Given the description of an element on the screen output the (x, y) to click on. 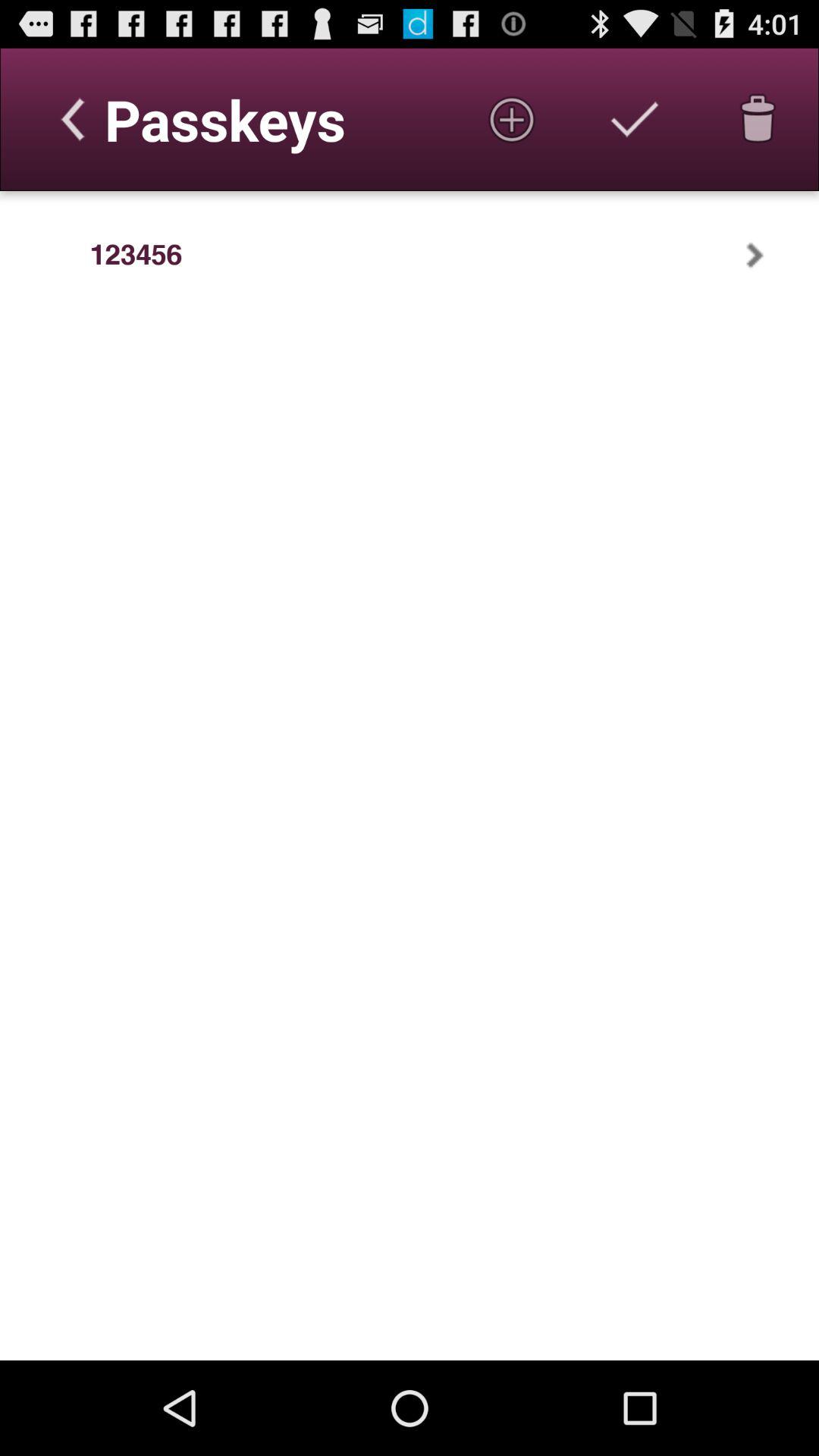
scroll until 123456 item (135, 254)
